Given the description of an element on the screen output the (x, y) to click on. 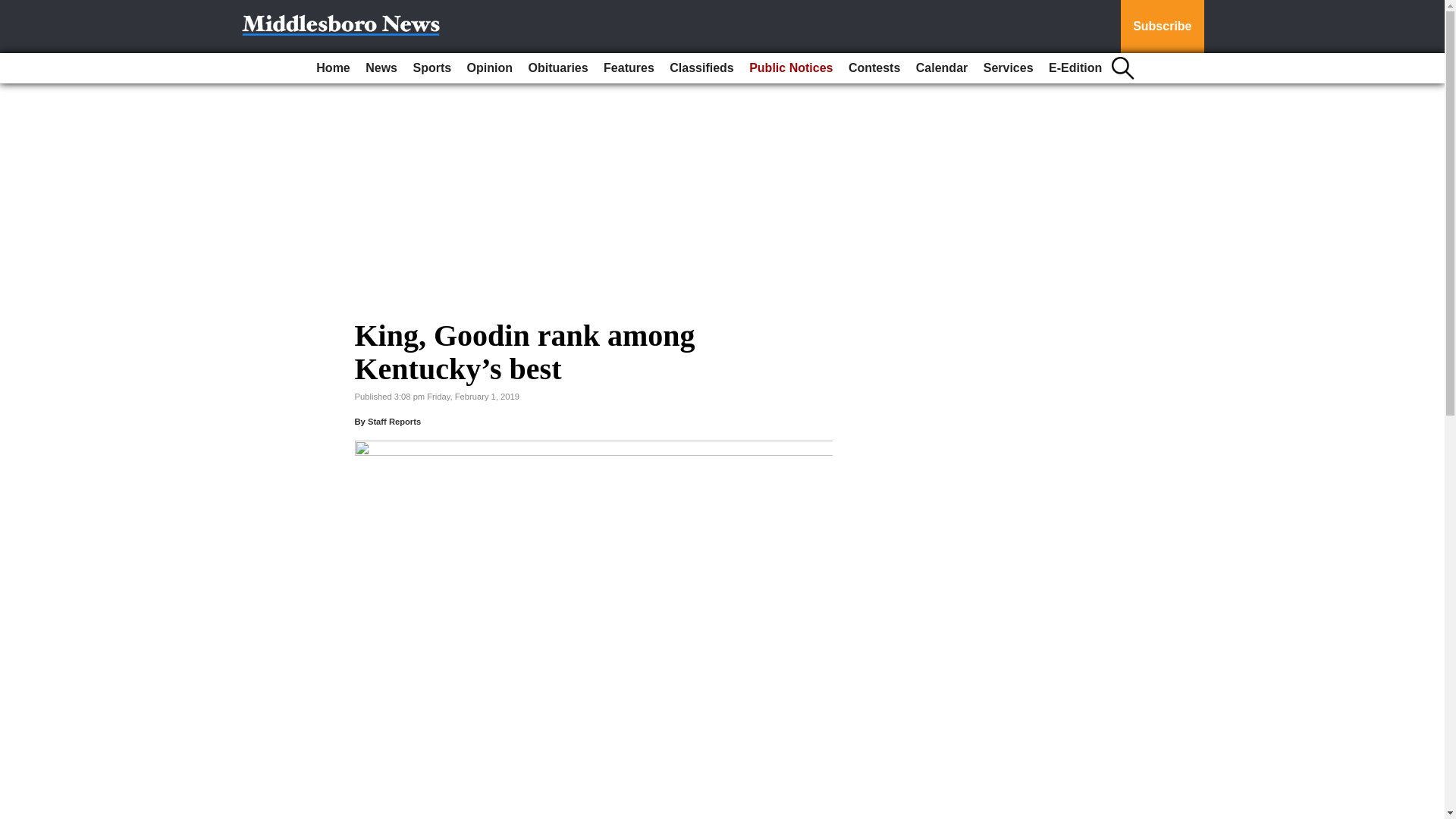
Subscribe (1162, 26)
Features (628, 68)
Services (1007, 68)
Sports (431, 68)
Classifieds (701, 68)
Home (332, 68)
Public Notices (790, 68)
Staff Reports (394, 420)
Opinion (489, 68)
Obituaries (557, 68)
